Given the description of an element on the screen output the (x, y) to click on. 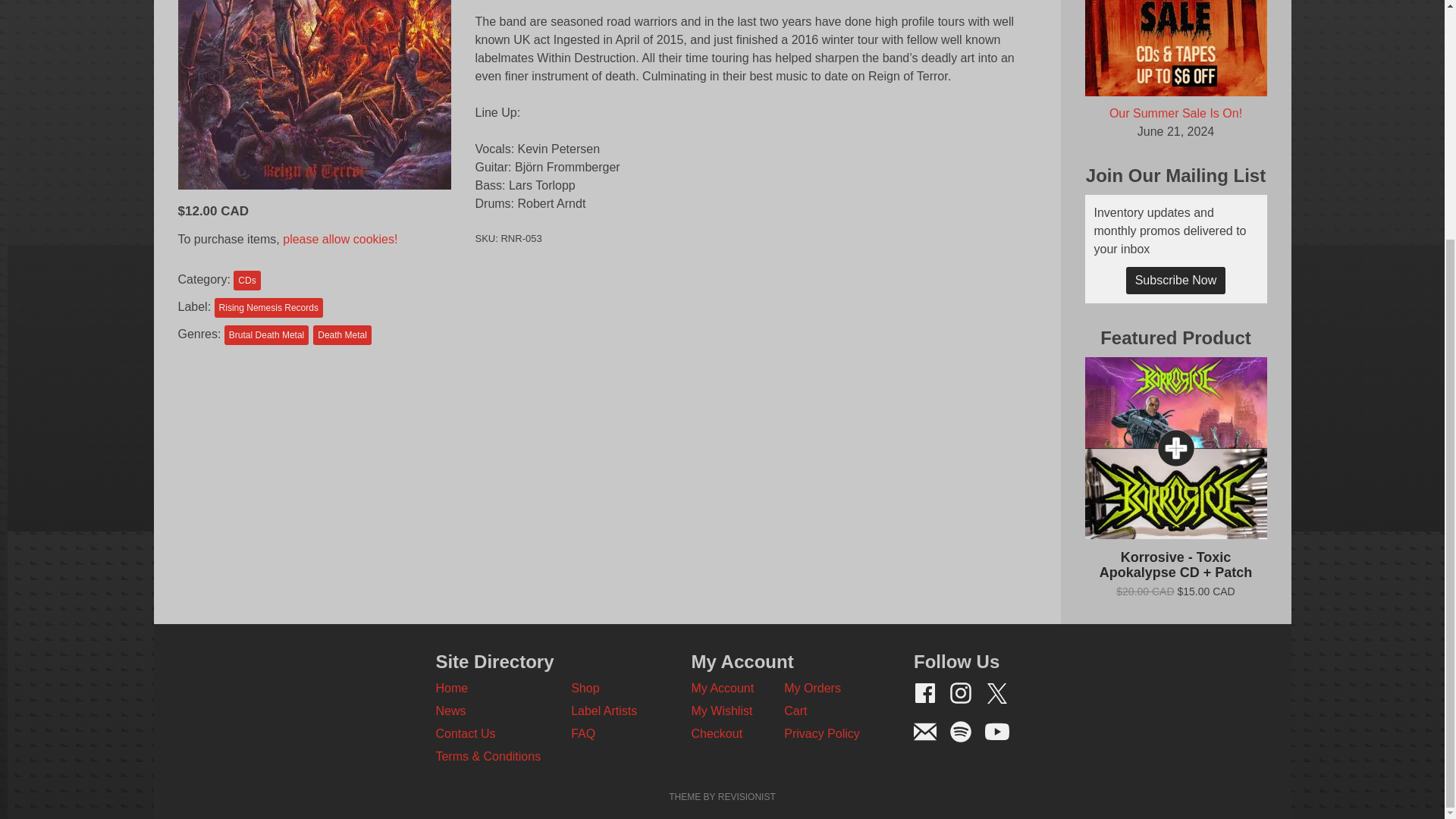
Subscribe Now (1175, 280)
Instagram (960, 692)
Privacy Policy (822, 733)
Facebook (924, 692)
Home (451, 687)
Spotify (960, 731)
Mailing List (925, 731)
Brutal Death Metal (266, 334)
FAQ (582, 733)
My Account (722, 687)
